Given the description of an element on the screen output the (x, y) to click on. 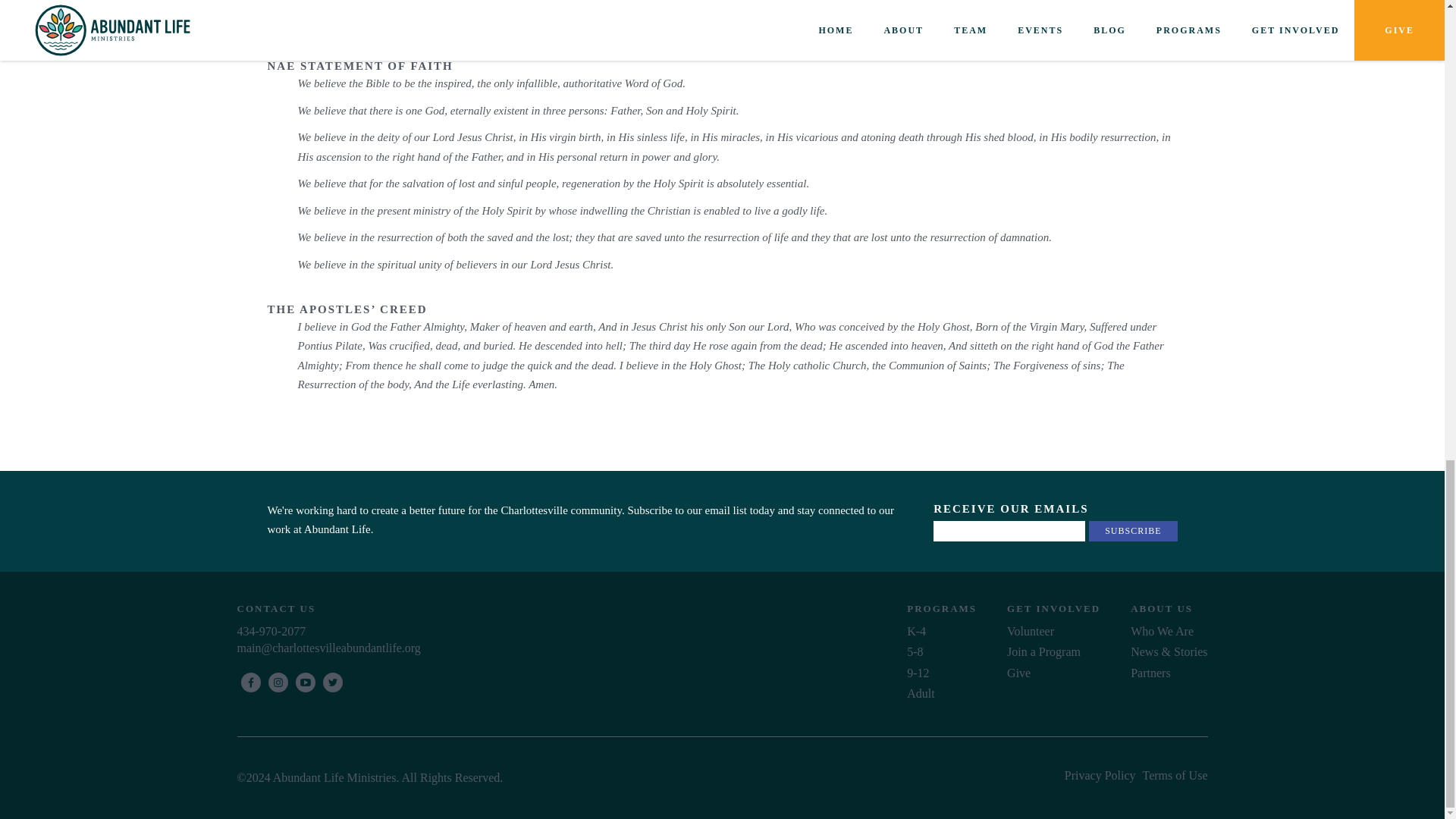
Subscribe (1132, 530)
National Association of Evangelicals (671, 28)
434-970-2077 (571, 631)
NAE Statement of Faith (444, 28)
Subscribe (1132, 530)
